Given the description of an element on the screen output the (x, y) to click on. 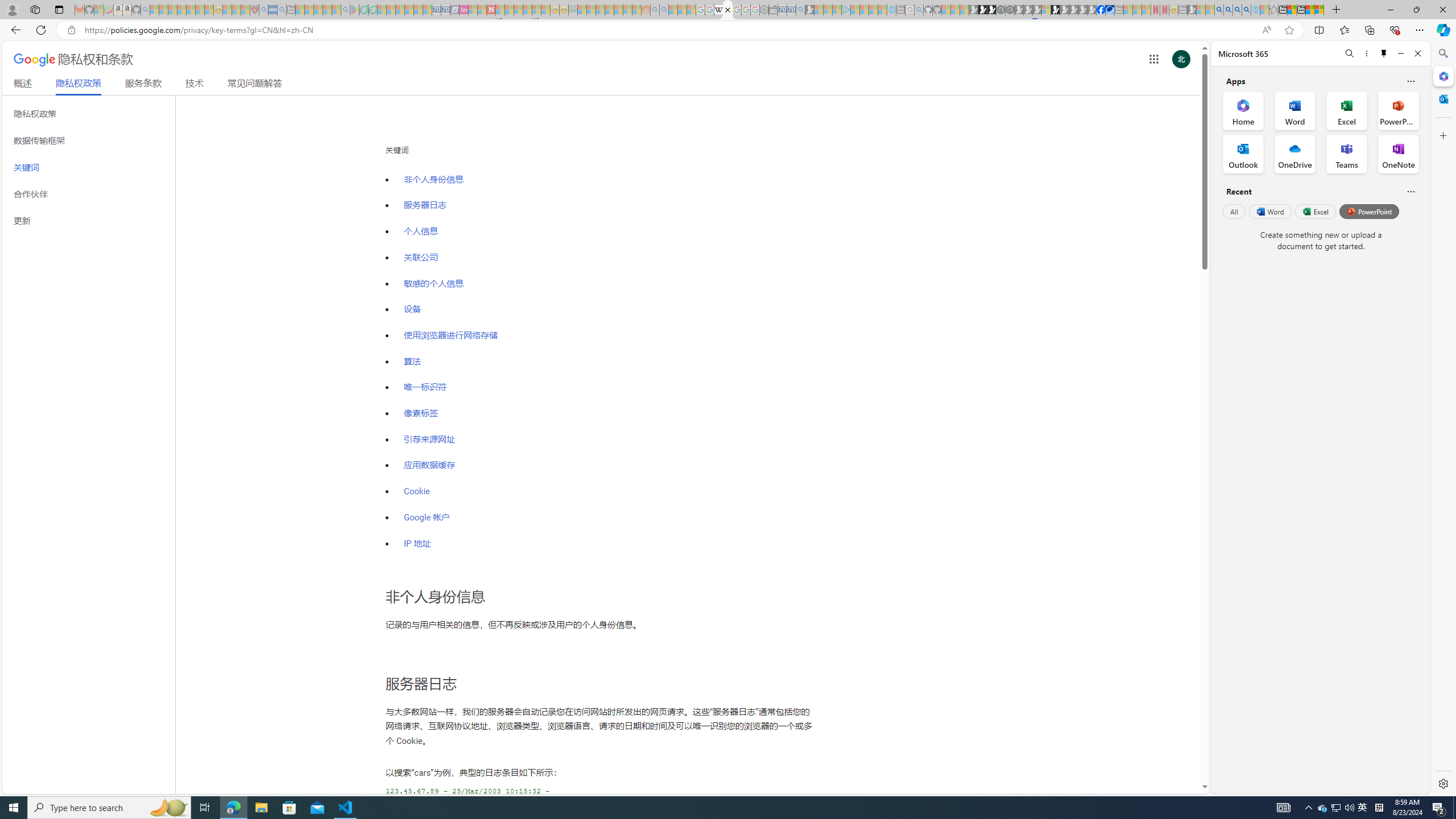
Outlook Office App (1243, 154)
github - Search - Sleeping (919, 9)
Word (1269, 210)
